Given the description of an element on the screen output the (x, y) to click on. 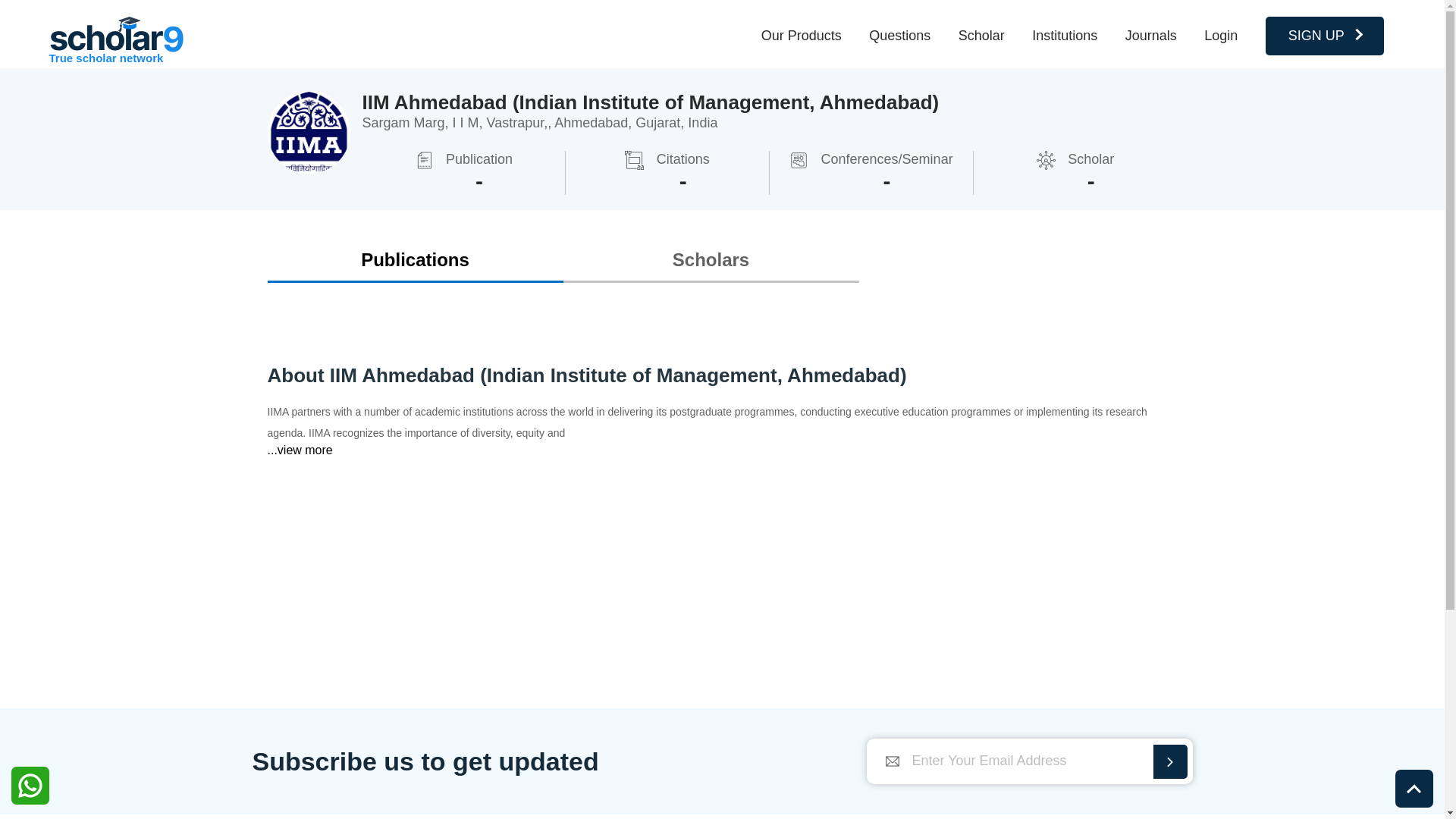
Journals (1150, 35)
Publications (414, 259)
Scholars (710, 259)
logo (116, 34)
SIGN UP (1324, 35)
Scholar (981, 35)
Institutions (1064, 35)
Login (1220, 35)
Questions (899, 35)
submit (1169, 761)
